Given the description of an element on the screen output the (x, y) to click on. 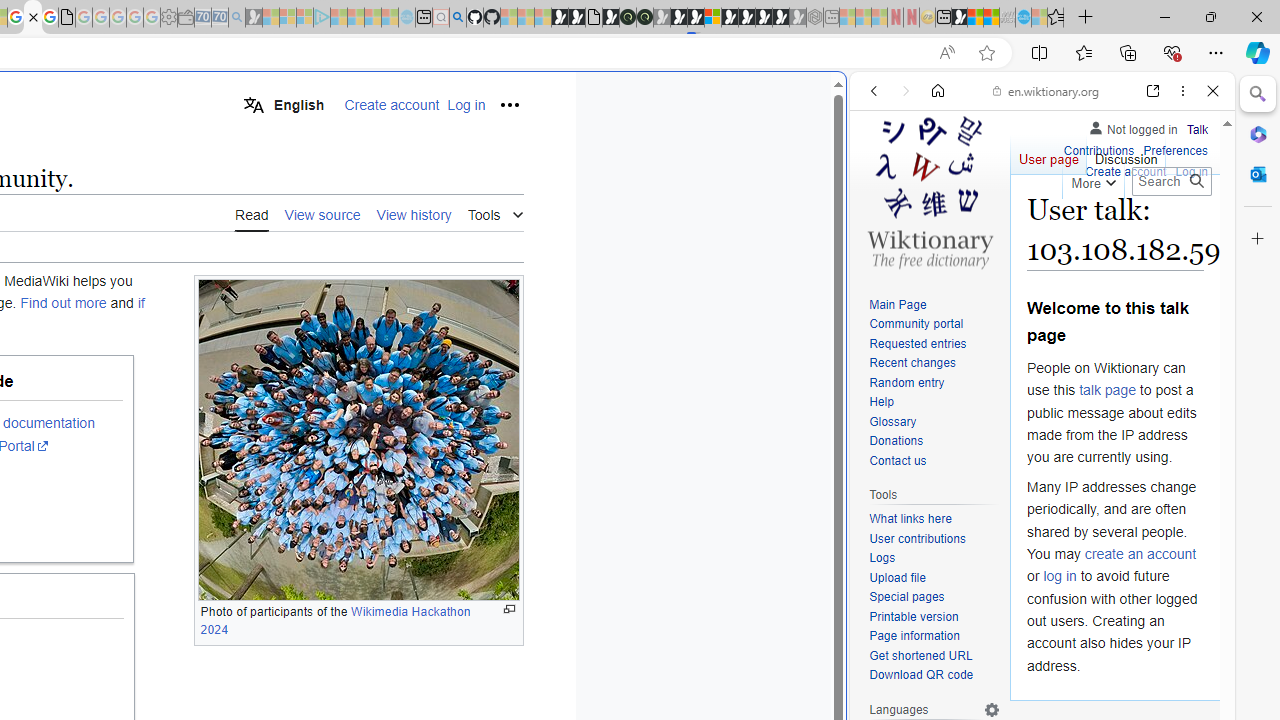
Discussion (1125, 154)
Main Page (934, 305)
